Given the description of an element on the screen output the (x, y) to click on. 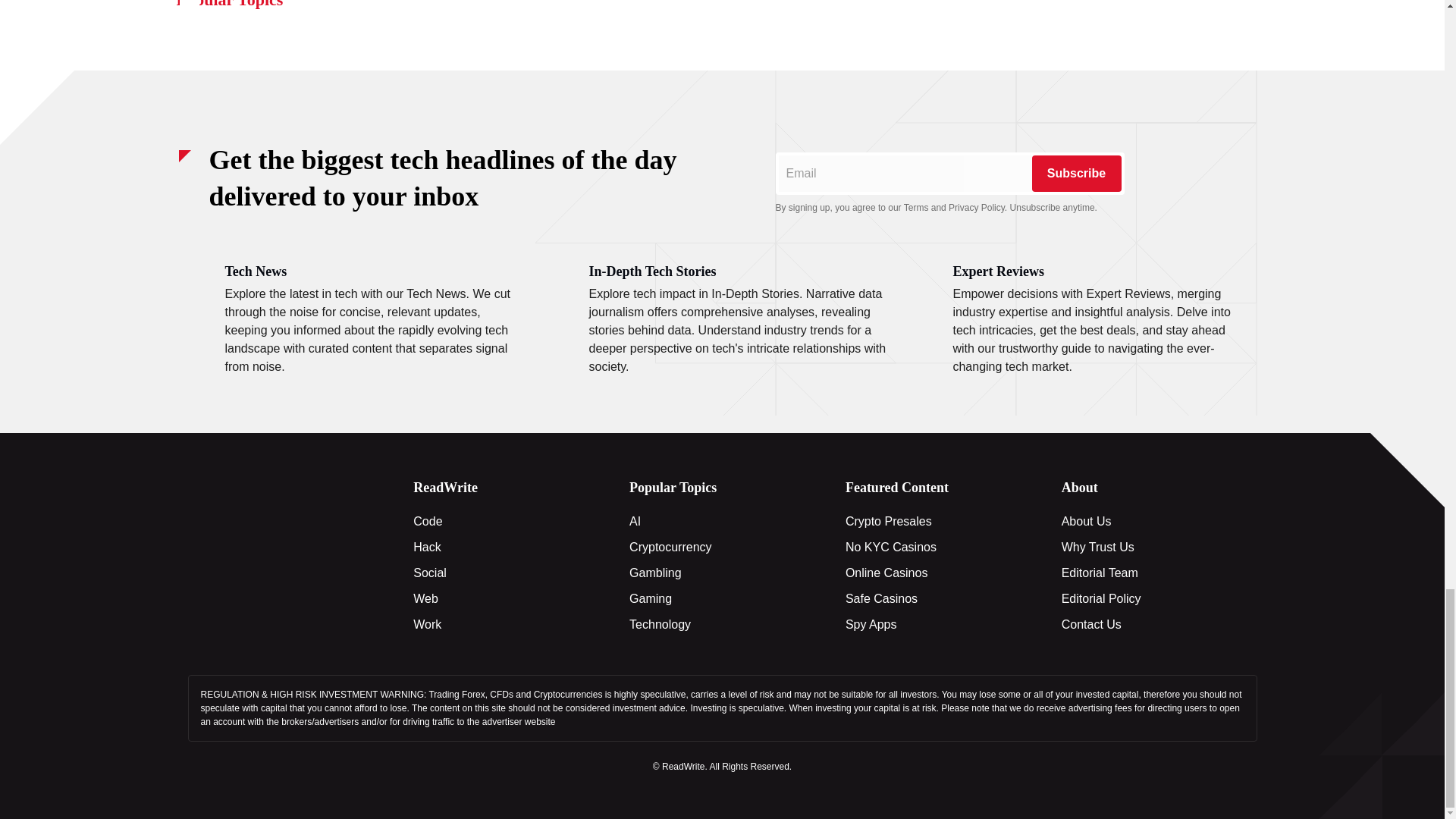
Subscribe (1075, 173)
